Given the description of an element on the screen output the (x, y) to click on. 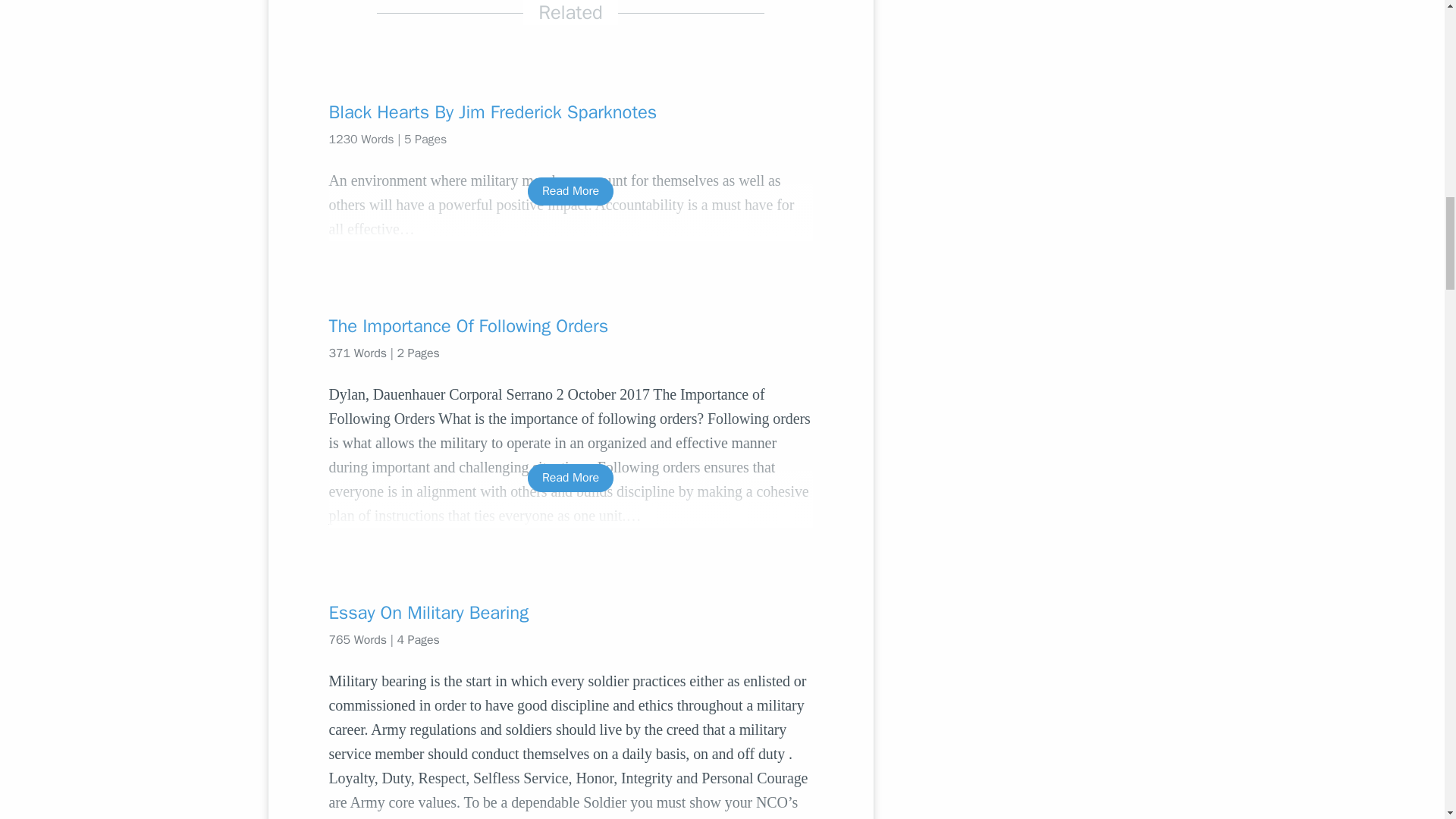
Black Hearts By Jim Frederick Sparknotes (570, 111)
Read More (569, 478)
The Importance Of Following Orders (570, 325)
Essay On Military Bearing (570, 612)
Read More (569, 191)
